Given the description of an element on the screen output the (x, y) to click on. 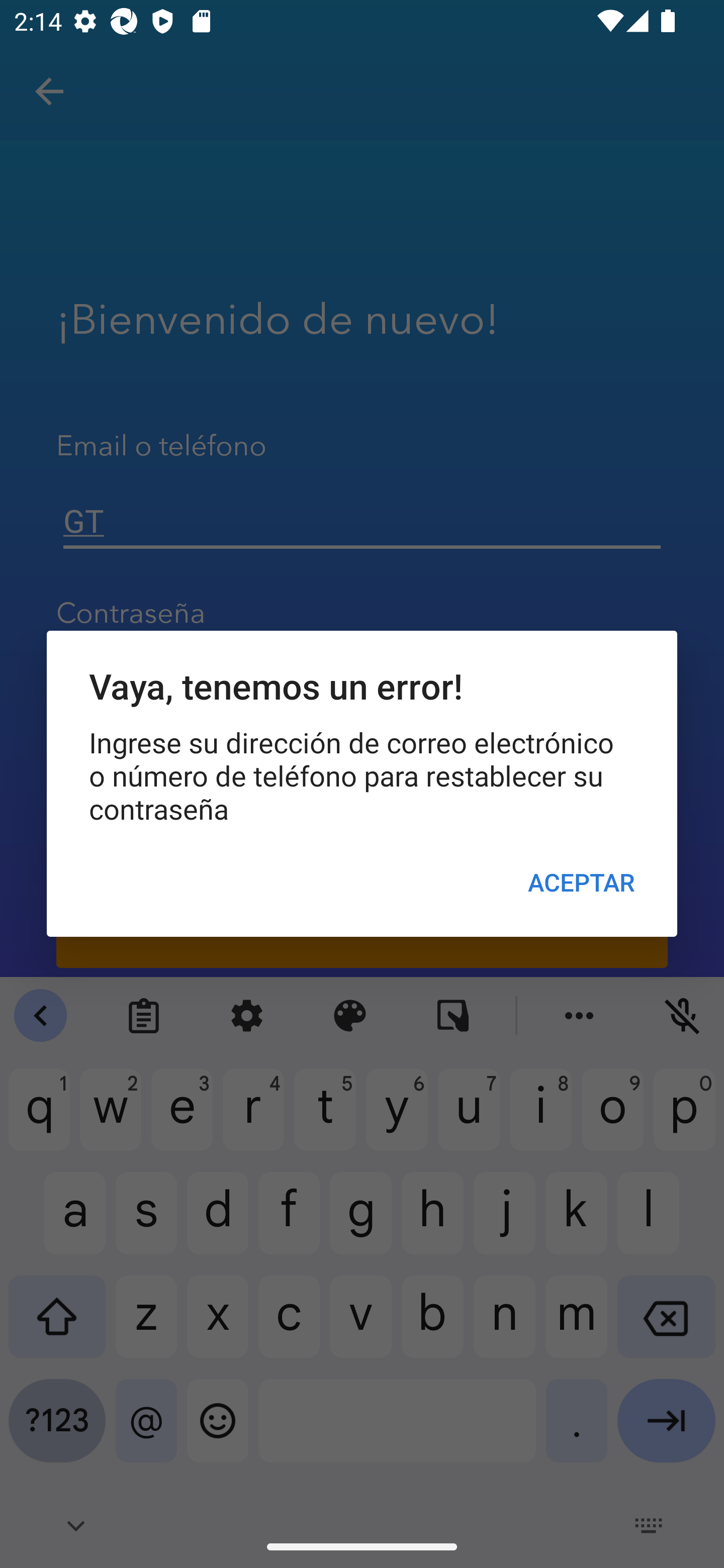
ACEPTAR (580, 881)
